Given the description of an element on the screen output the (x, y) to click on. 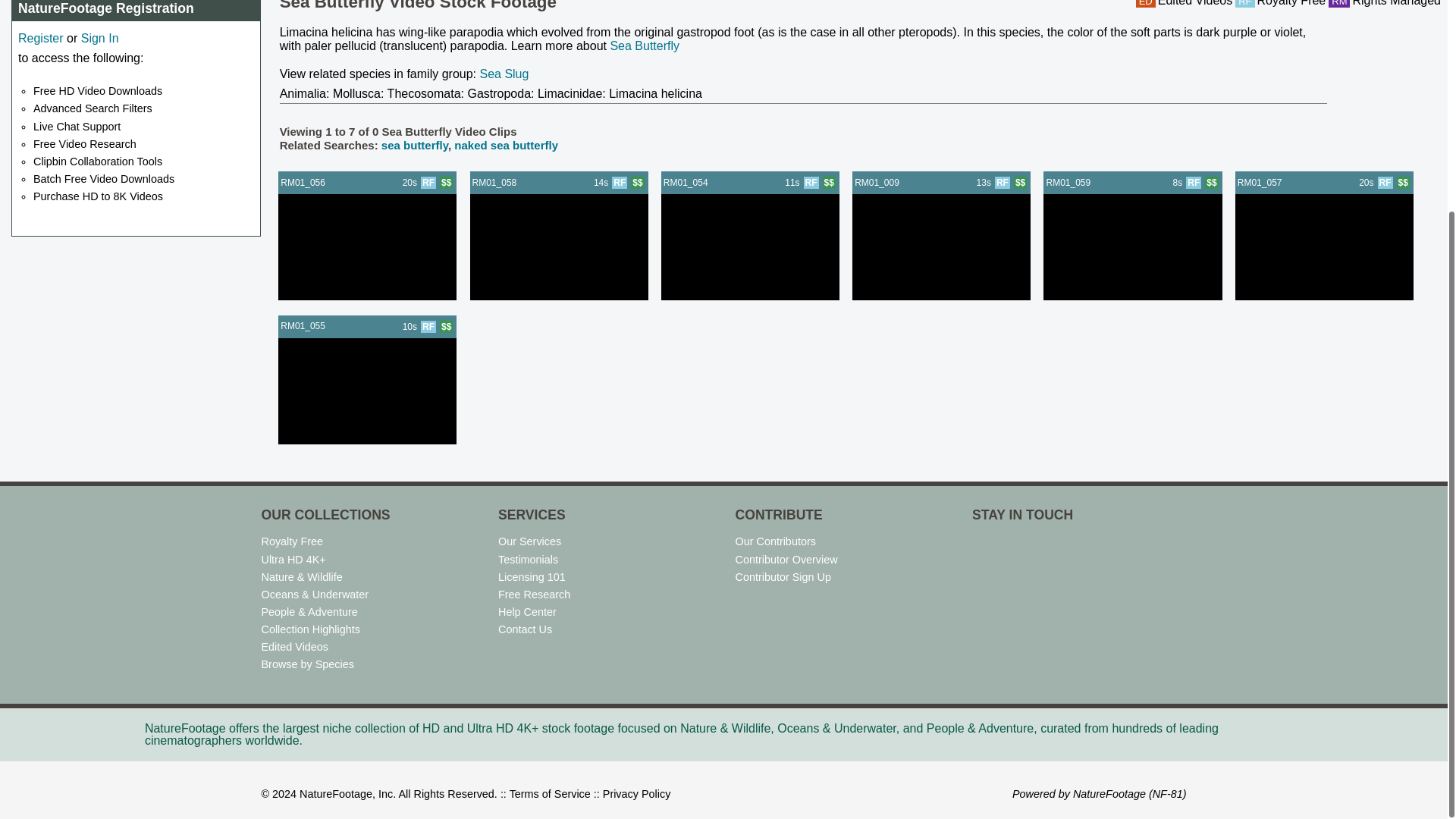
Pricing calculator (446, 182)
Sea Butterfly (644, 45)
Pricing calculator (636, 182)
sea butterfly (414, 144)
Sea Slug (503, 73)
